Given the description of an element on the screen output the (x, y) to click on. 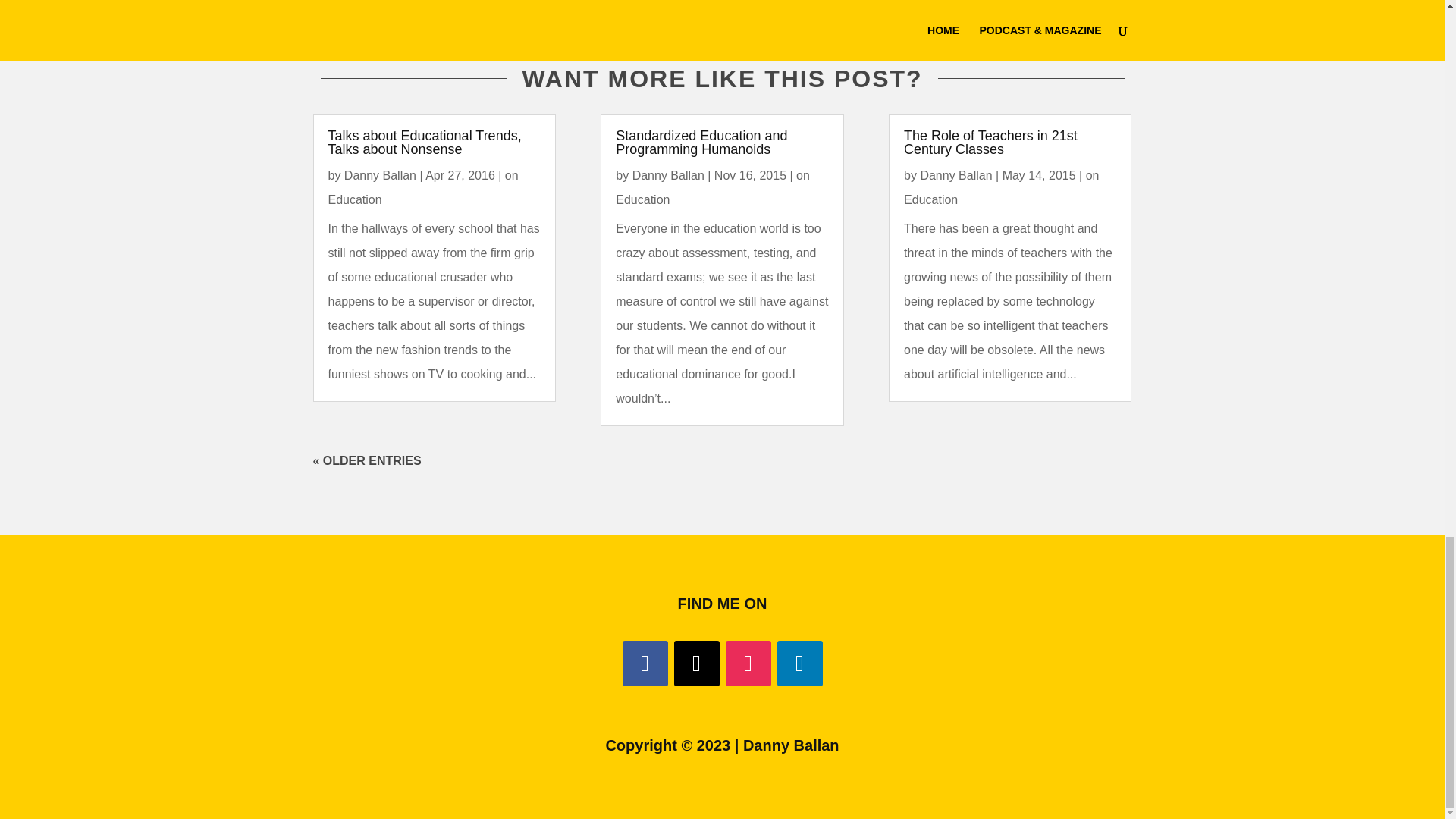
Danny Ballan (667, 174)
Follow on Facebook (643, 663)
Danny Ballan (955, 174)
The Role of Teachers in 21st Century Classes (990, 142)
Standardized Education and Programming Humanoids (701, 142)
on Education (422, 187)
Follow on X (695, 663)
Learn how your comment data is processed (643, 12)
Posts by Danny Ballan (667, 174)
on Education (712, 187)
